Given the description of an element on the screen output the (x, y) to click on. 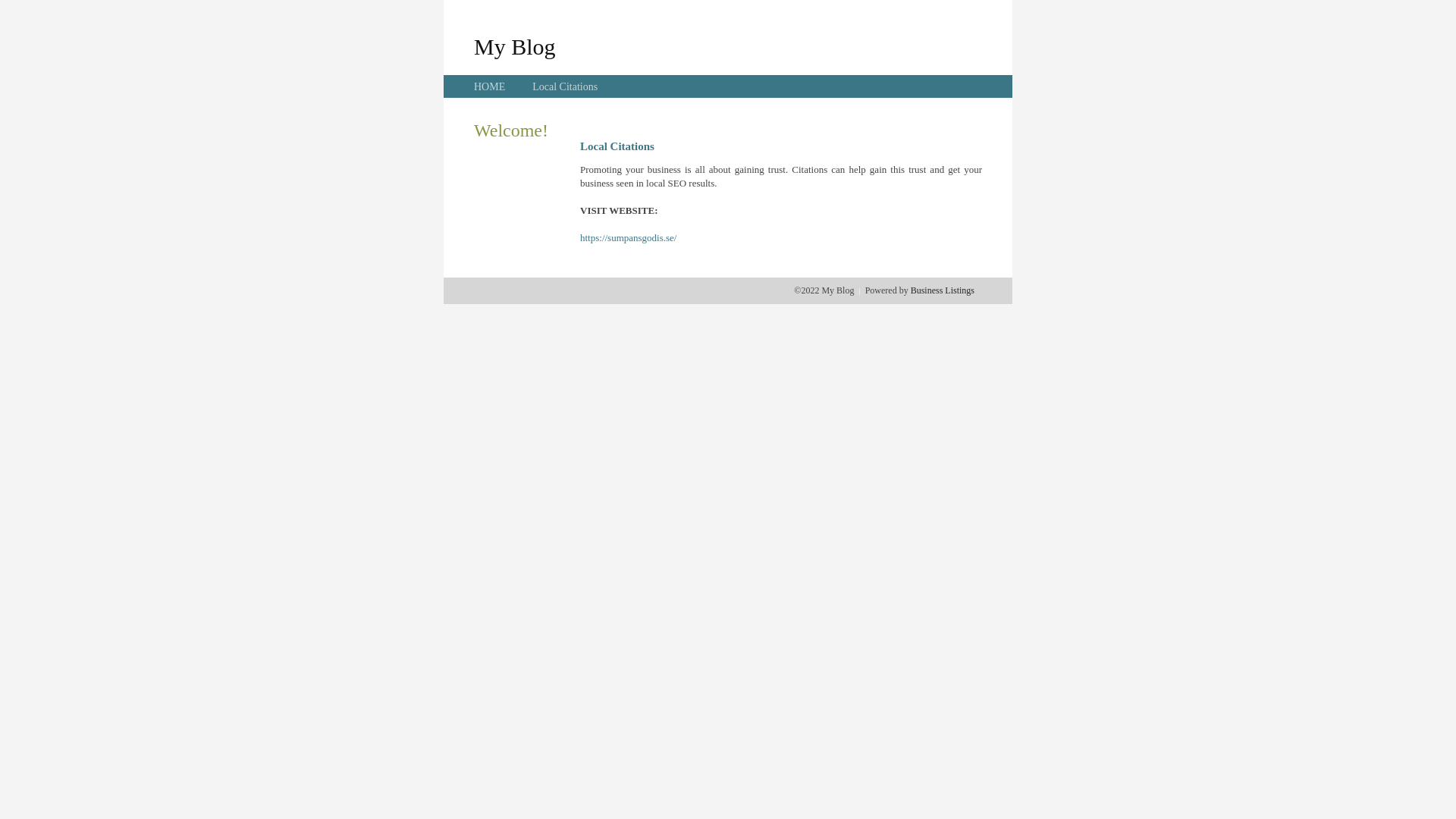
Local Citations Element type: text (564, 86)
HOME Element type: text (489, 86)
My Blog Element type: text (514, 46)
https://sumpansgodis.se/ Element type: text (628, 237)
Business Listings Element type: text (942, 290)
